Given the description of an element on the screen output the (x, y) to click on. 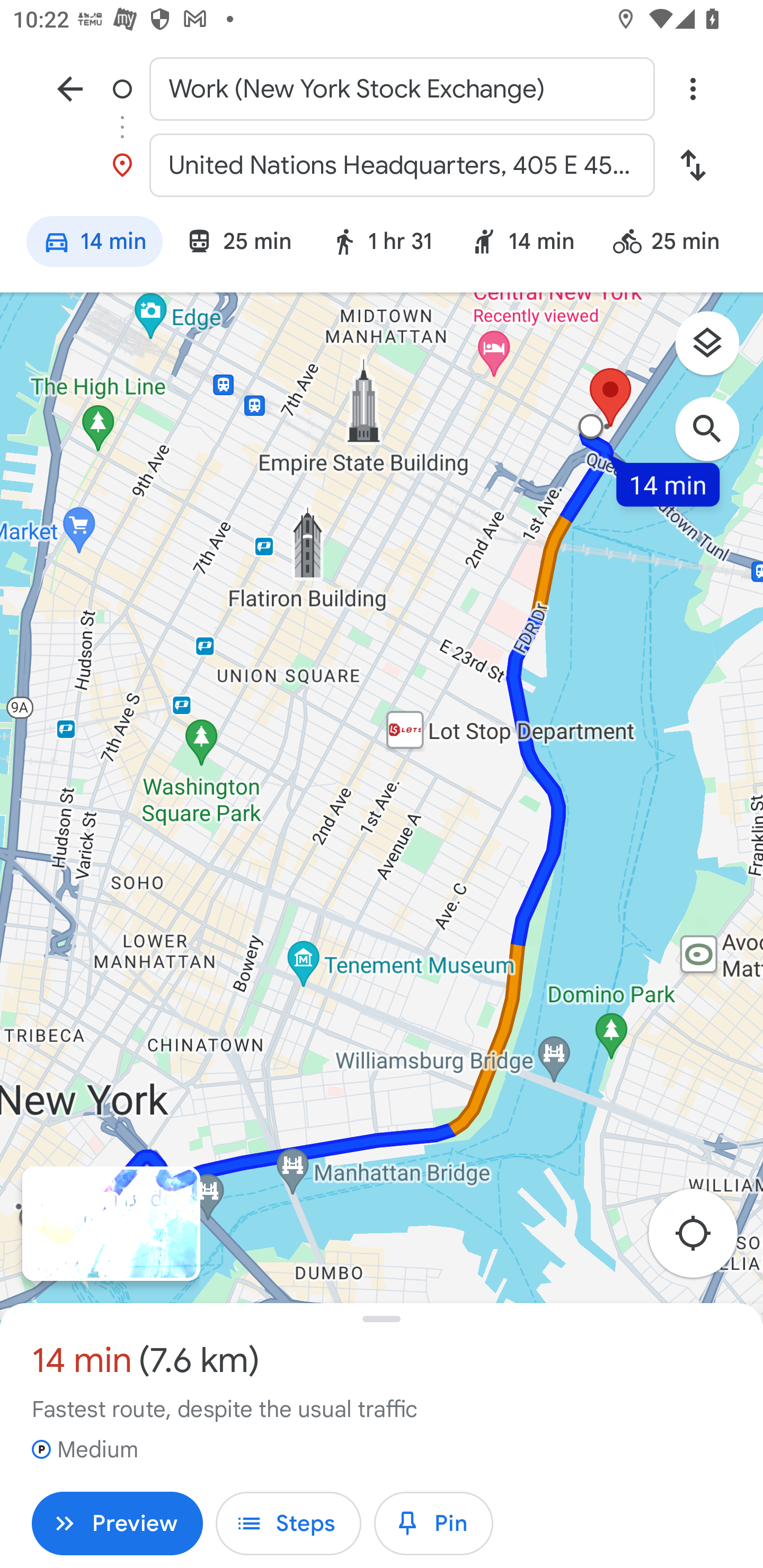
Navigate up (70, 88)
Overflow menu (692, 88)
Swap start and destination (692, 165)
Transit mode: 25 min 25 min (238, 244)
Walking mode: 1 hr 31 1 hr 31 (381, 244)
Ride service: 14 min 14 min (522, 244)
Bicycling mode: 25 min 25 min (674, 244)
Layers (716, 349)
Search along route (716, 438)
Open Immersive View for routes (110, 1223)
Re-center map to your location (702, 1238)
Steps Steps Steps (288, 1522)
Pin trip Pin Pin trip (433, 1522)
